Given the description of an element on the screen output the (x, y) to click on. 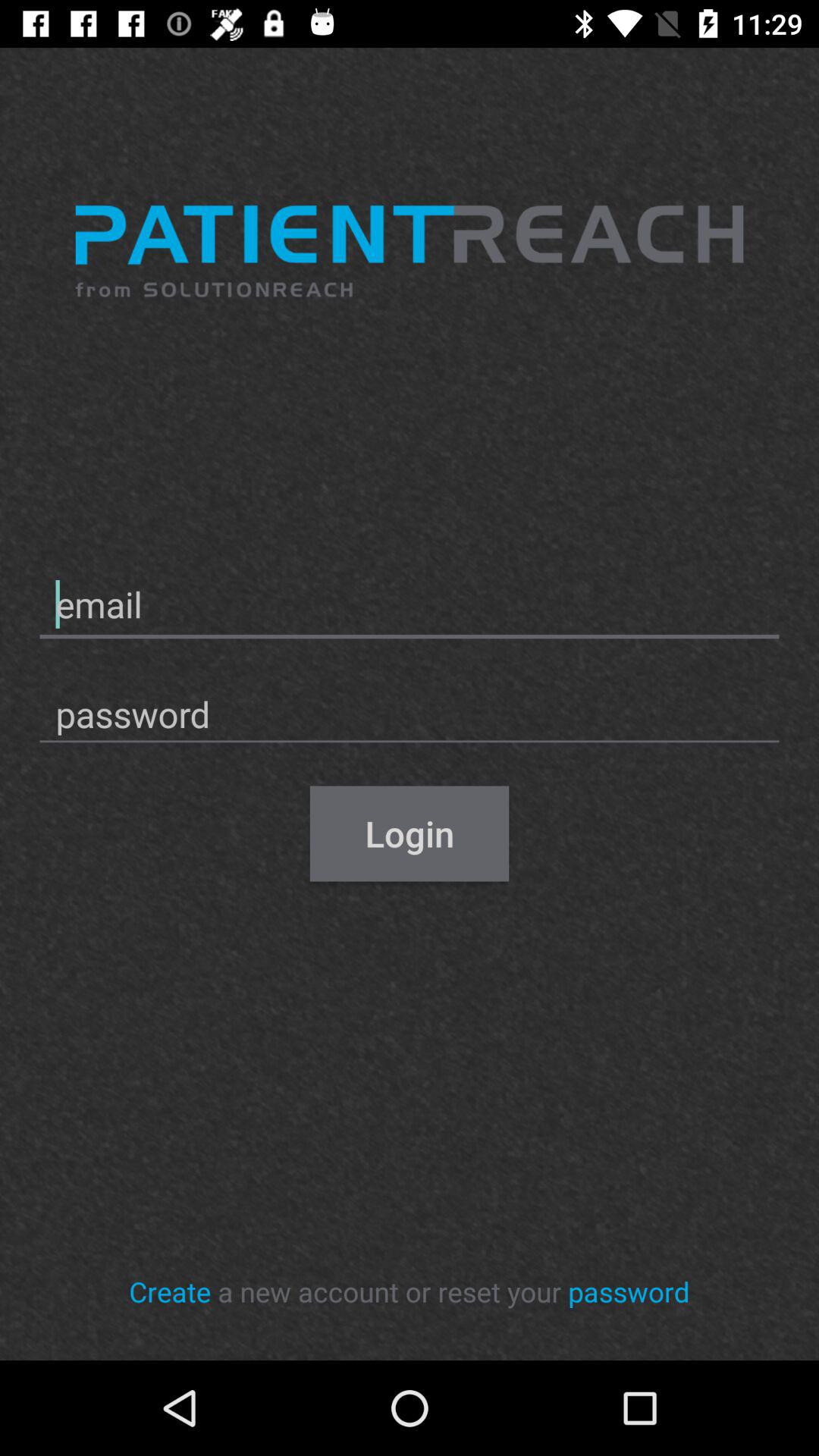
turn off item above the a new account icon (409, 833)
